Given the description of an element on the screen output the (x, y) to click on. 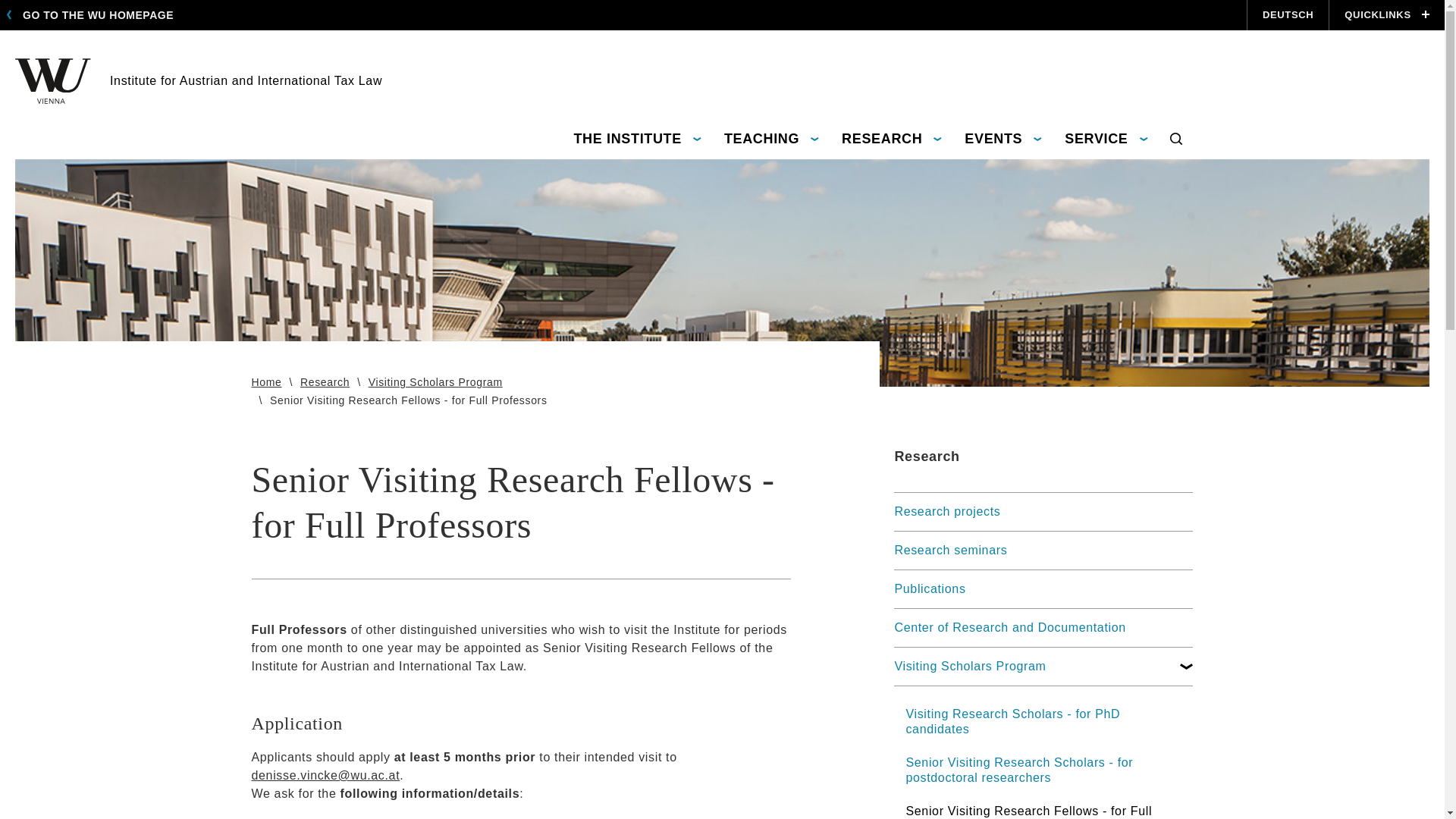
WU Blog (1101, 4)
Newsletter (1208, 4)
LinkedIn (1181, 4)
YouTube (1129, 4)
Search (1175, 140)
Newsletter (1208, 4)
Instagram (1075, 4)
WU Blog (1101, 4)
Instagram (1075, 4)
DEUTSCH (1286, 15)
Facebook (1049, 4)
X (1155, 4)
LinkedIn (1181, 4)
THE INSTITUTE (636, 140)
Facebook (1049, 4)
